Given the description of an element on the screen output the (x, y) to click on. 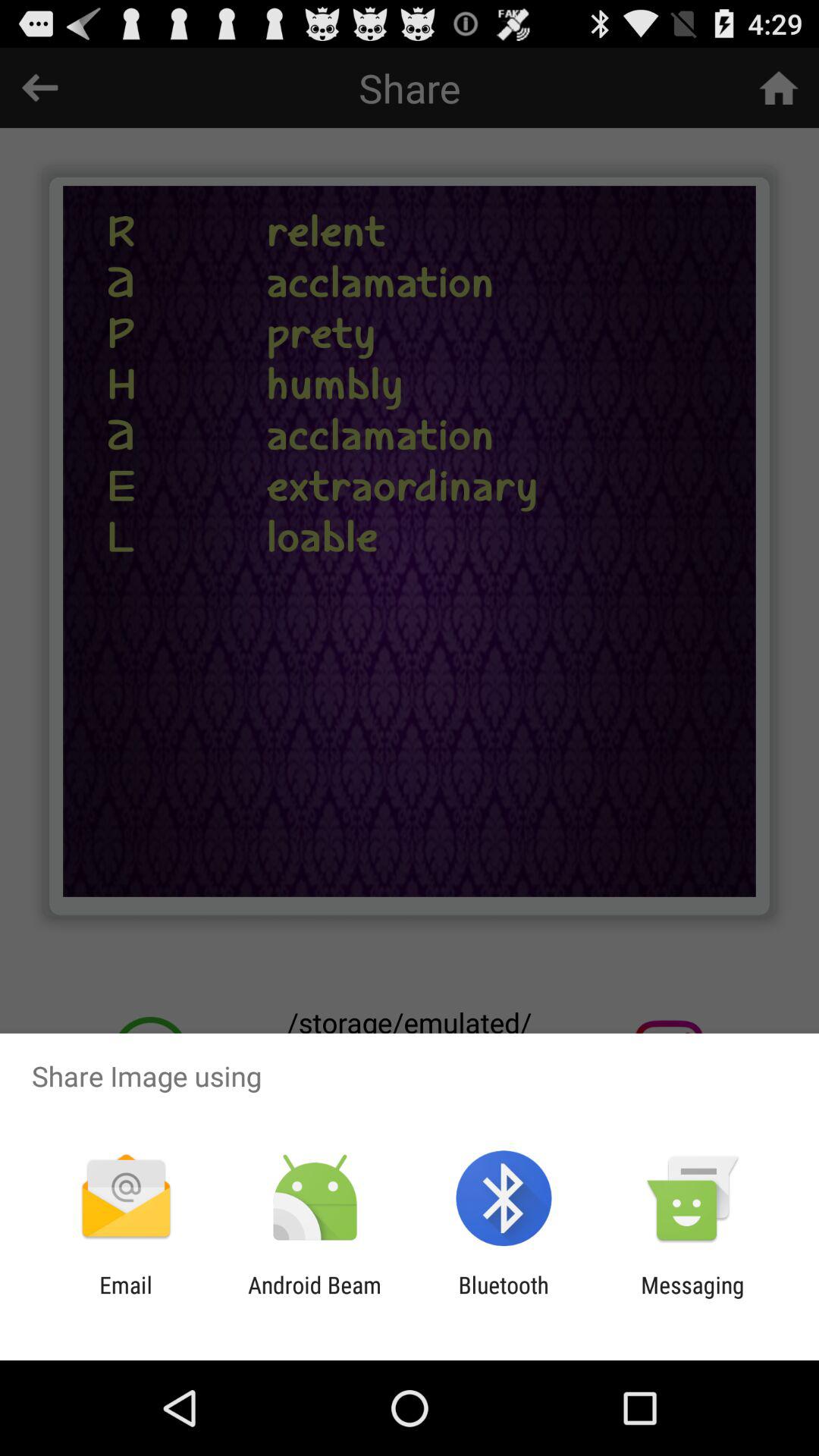
tap the android beam item (314, 1298)
